Given the description of an element on the screen output the (x, y) to click on. 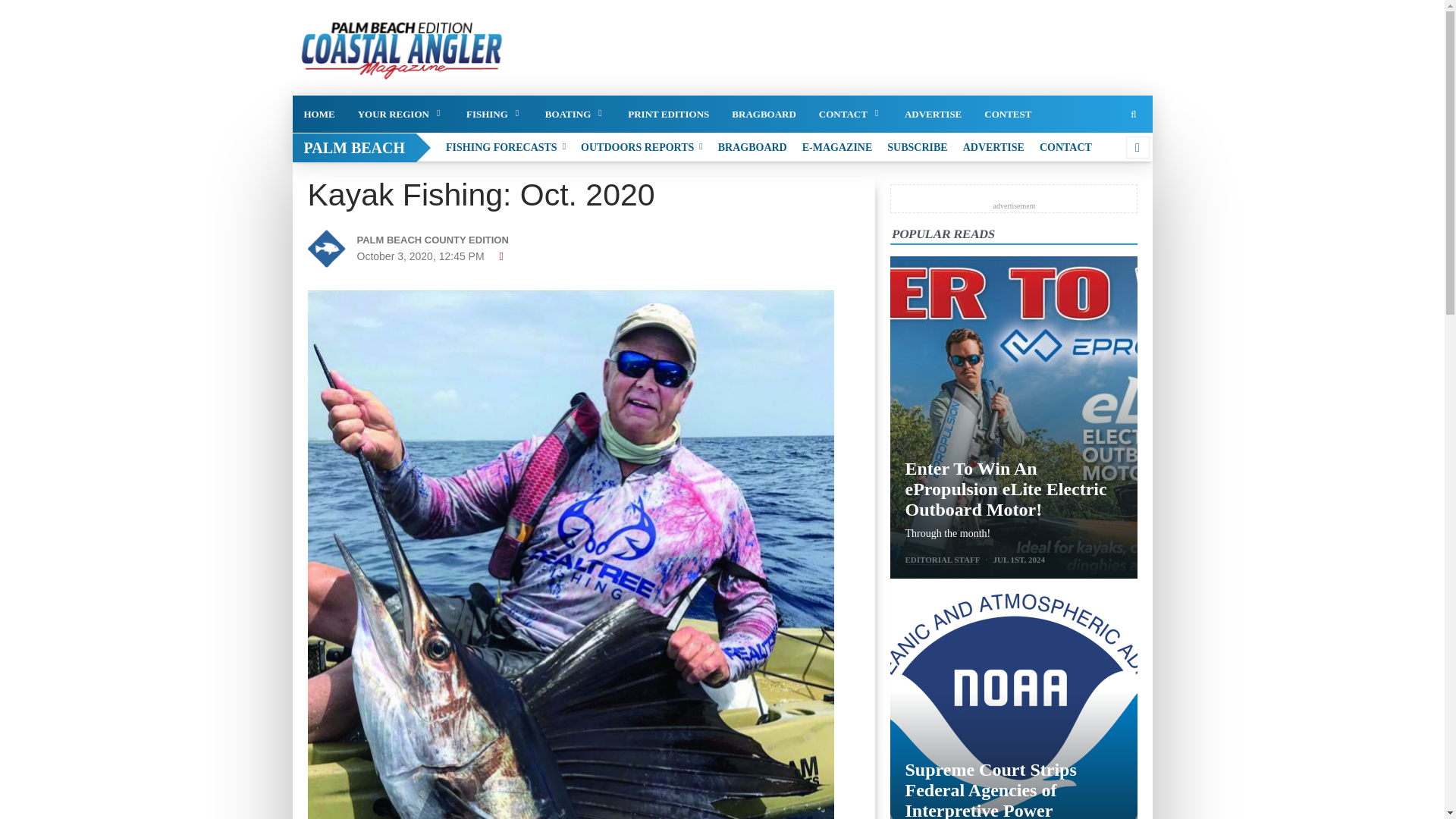
View all posts by Editorial Staff (942, 560)
View all posts by Palm Beach County Edition (442, 240)
